Given the description of an element on the screen output the (x, y) to click on. 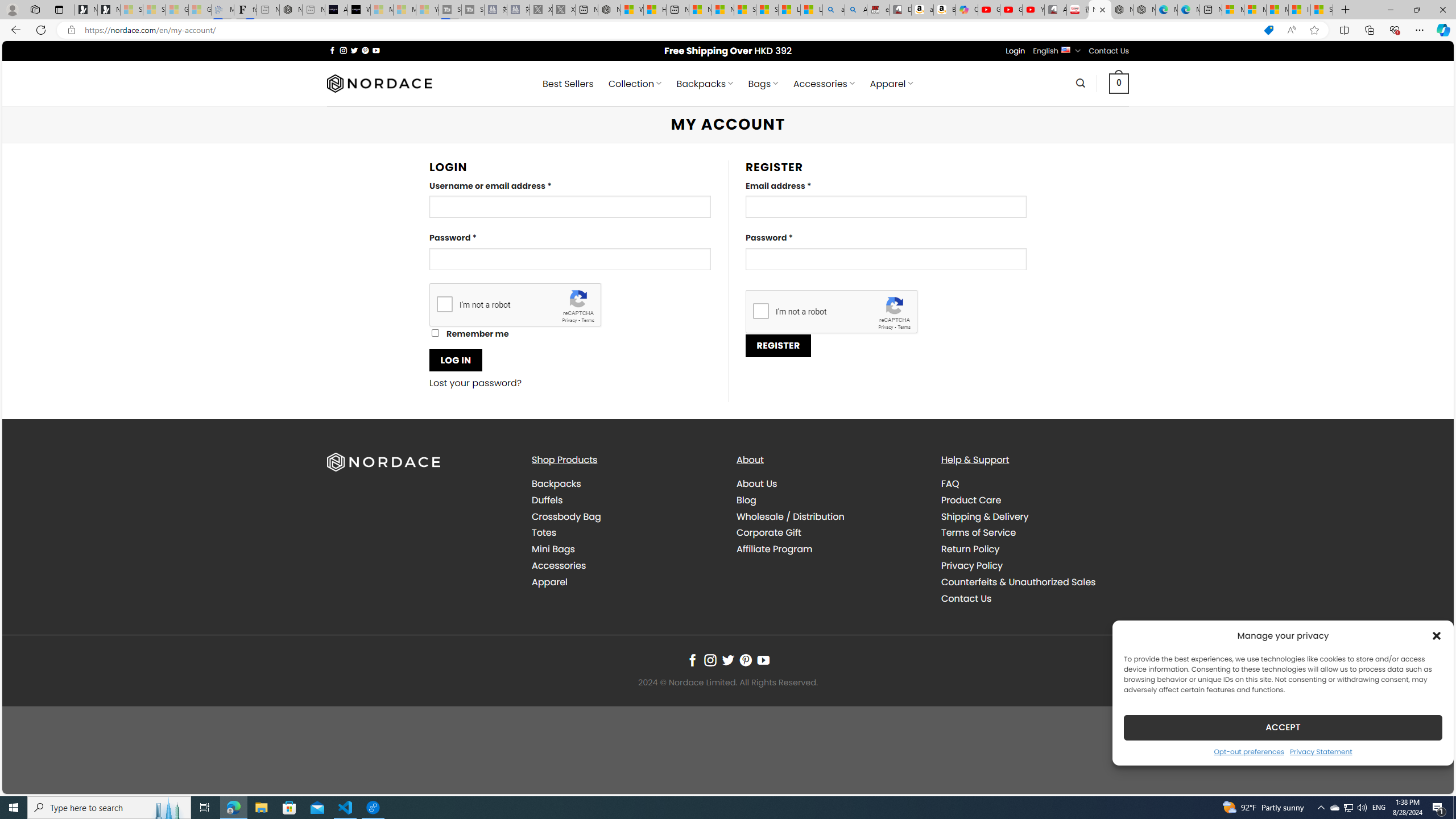
Opt-out preferences (1249, 750)
Shipping & Delivery (984, 516)
I Gained 20 Pounds of Muscle in 30 Days! | Watch (1300, 9)
I'm not a robot (760, 310)
Nordace - My Account (1099, 9)
Copilot (966, 9)
Privacy Policy (971, 565)
Privacy (885, 326)
Corporate Gift (830, 532)
